Given the description of an element on the screen output the (x, y) to click on. 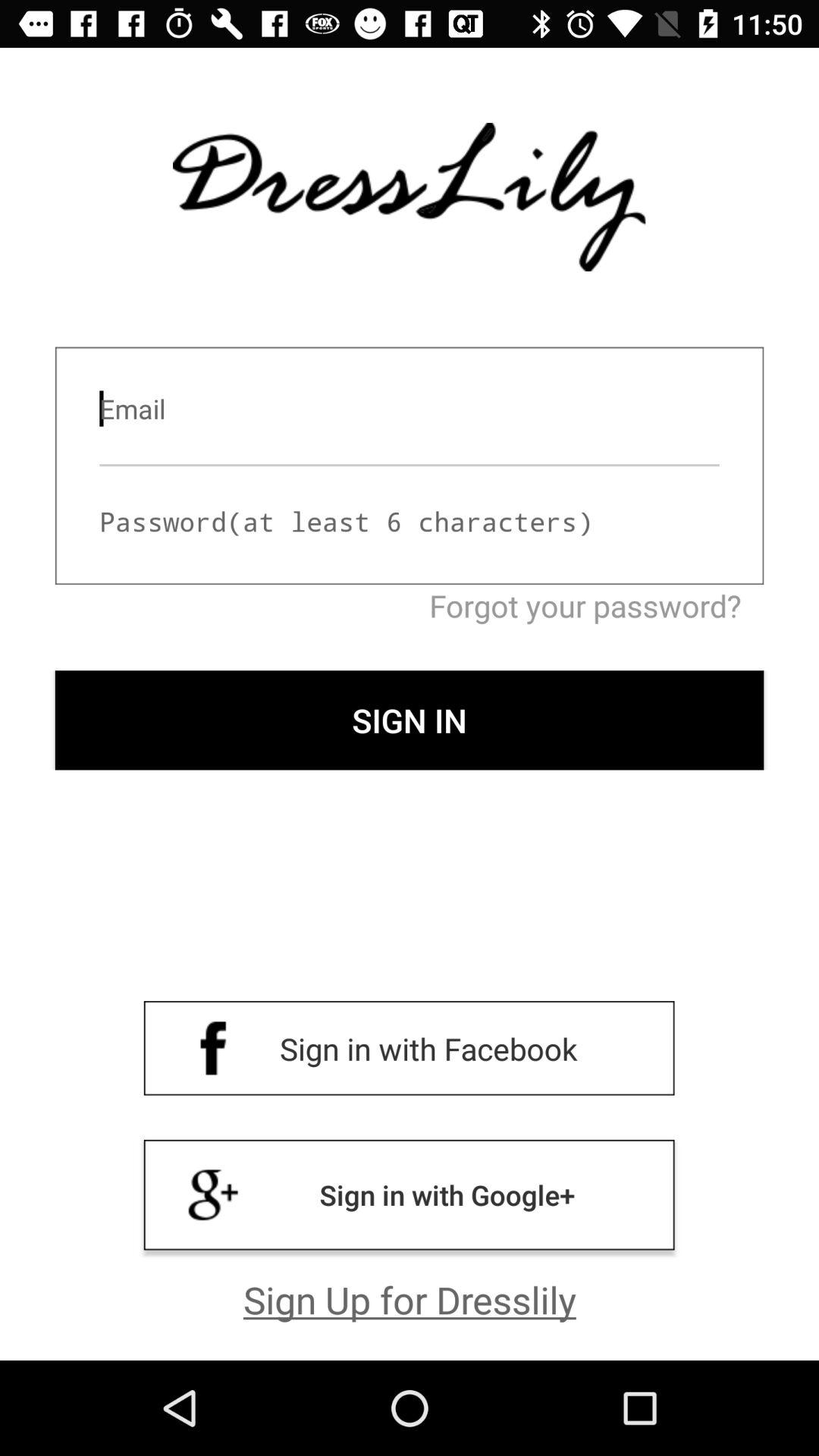
tap item above the sign in (409, 605)
